Given the description of an element on the screen output the (x, y) to click on. 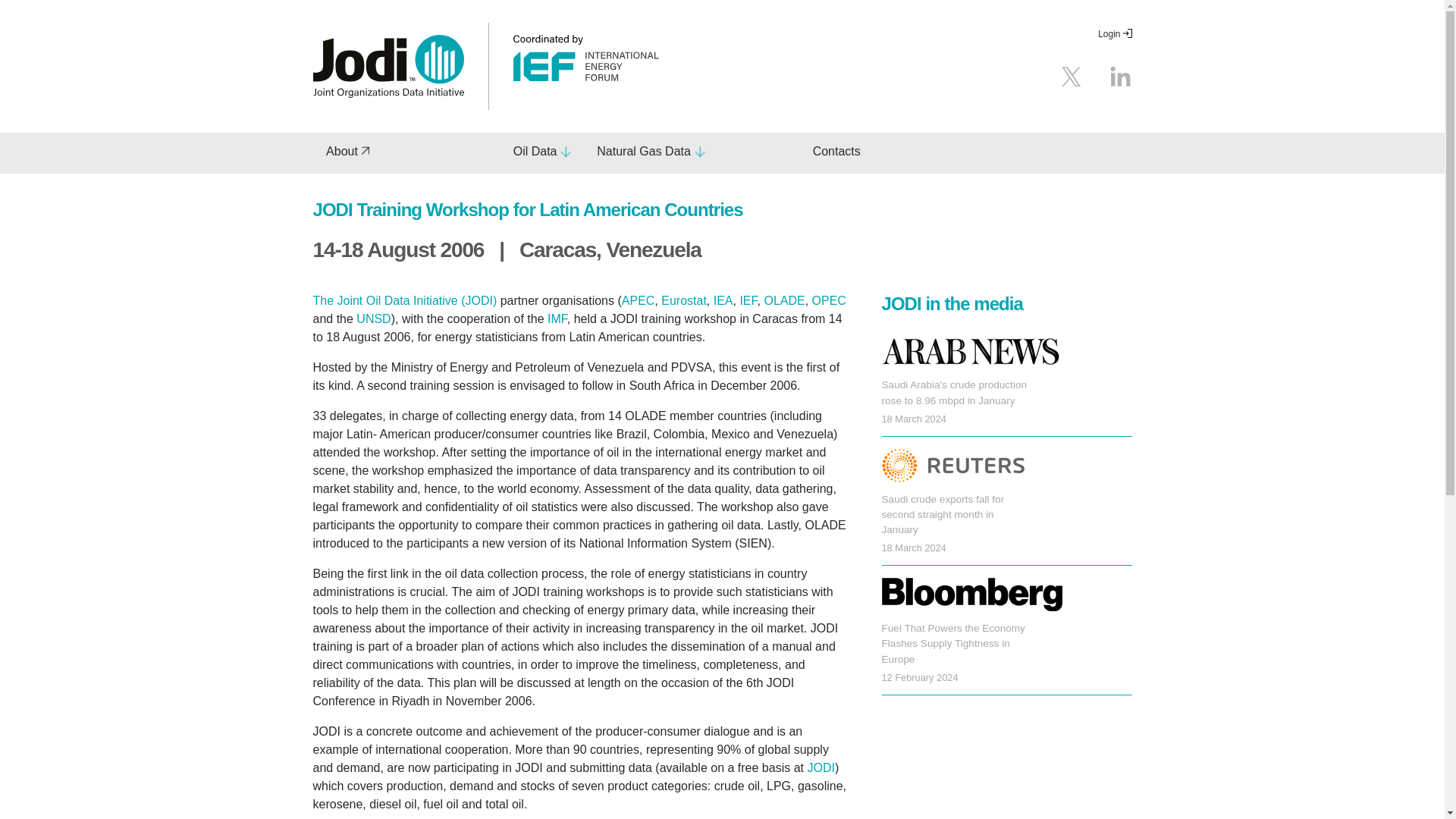
Login (1114, 34)
Natural Gas Data (650, 152)
About (348, 152)
Oil Data (541, 152)
